Given the description of an element on the screen output the (x, y) to click on. 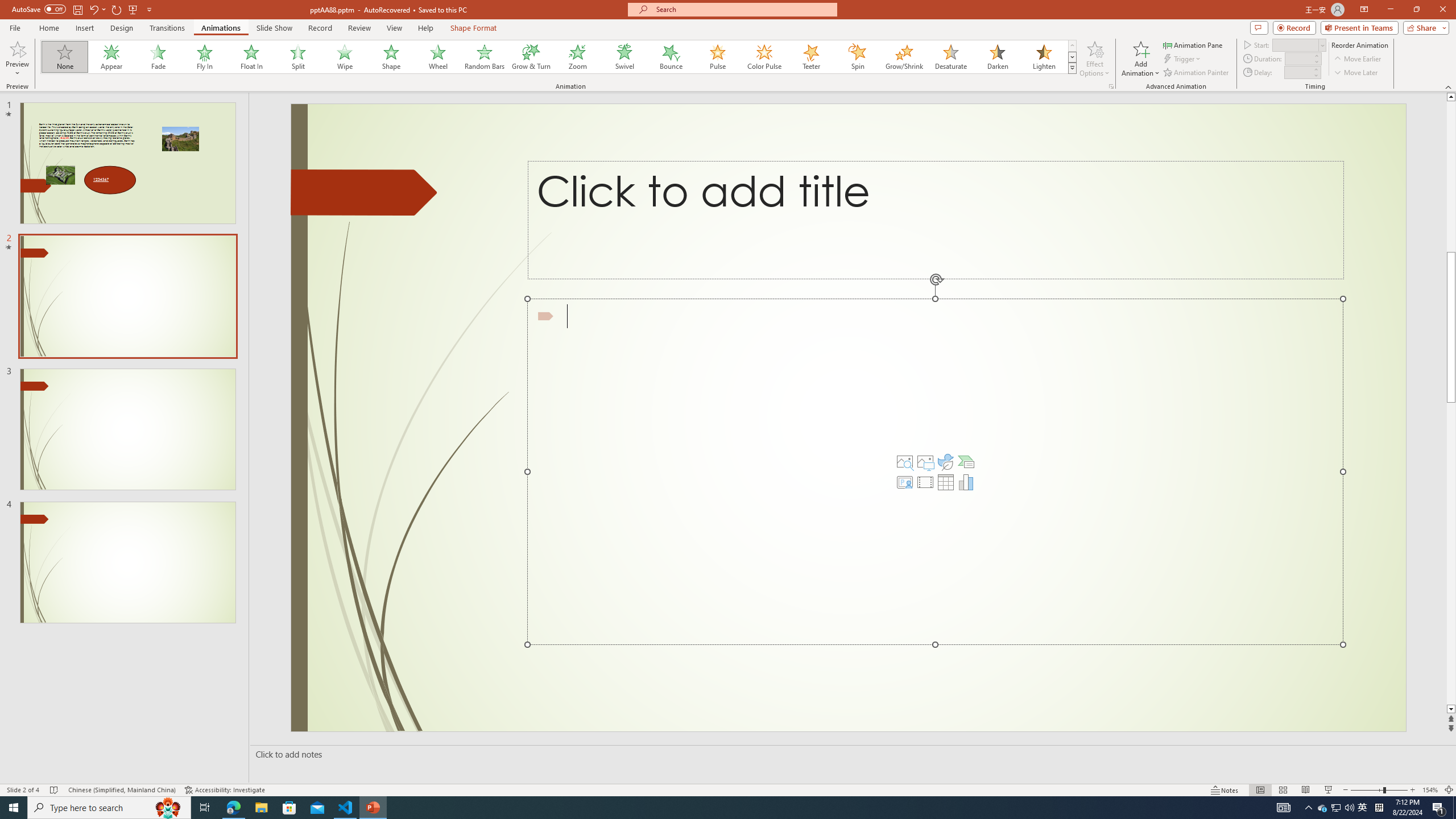
Lighten (1043, 56)
Animation Delay (1297, 72)
Desaturate (950, 56)
Swivel (624, 56)
Animation Painter (1196, 72)
Move Later (1355, 72)
